Given the description of an element on the screen output the (x, y) to click on. 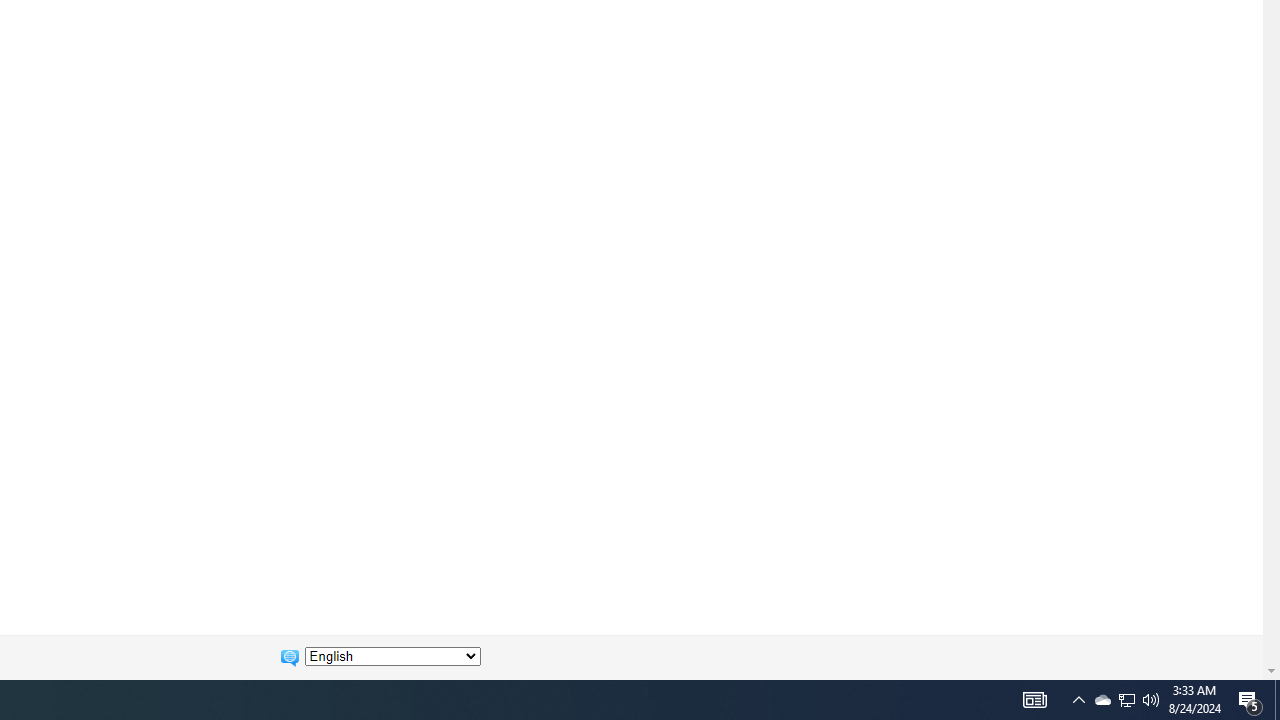
Change language: (392, 656)
